Given the description of an element on the screen output the (x, y) to click on. 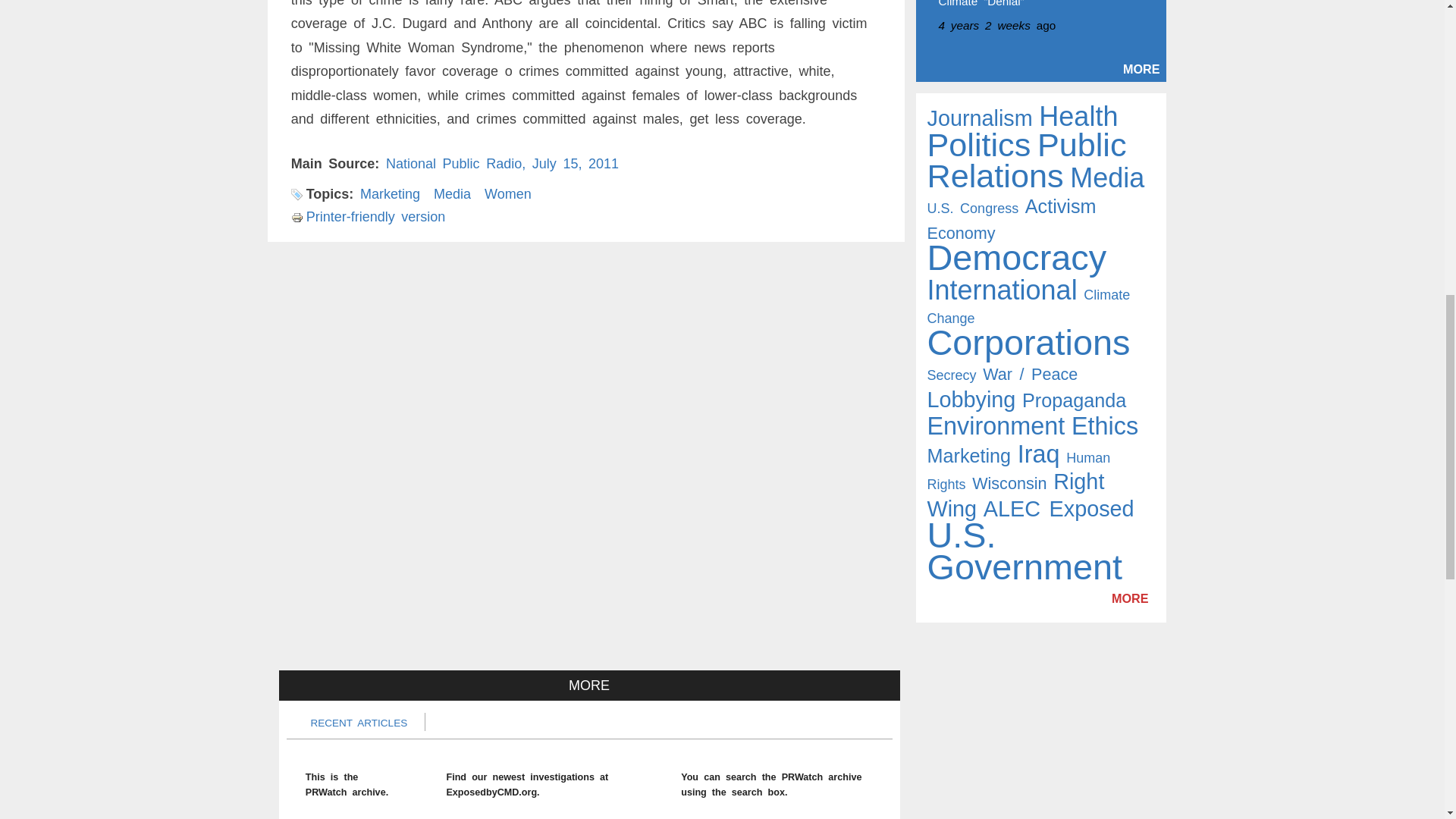
Media (451, 193)
Marketing (389, 193)
Printer-friendly version (298, 217)
Display a printer-friendly version of this page. (368, 216)
National Public Radio, July 15, 2011 (501, 163)
Women (507, 193)
Printer-friendly version (368, 216)
